Given the description of an element on the screen output the (x, y) to click on. 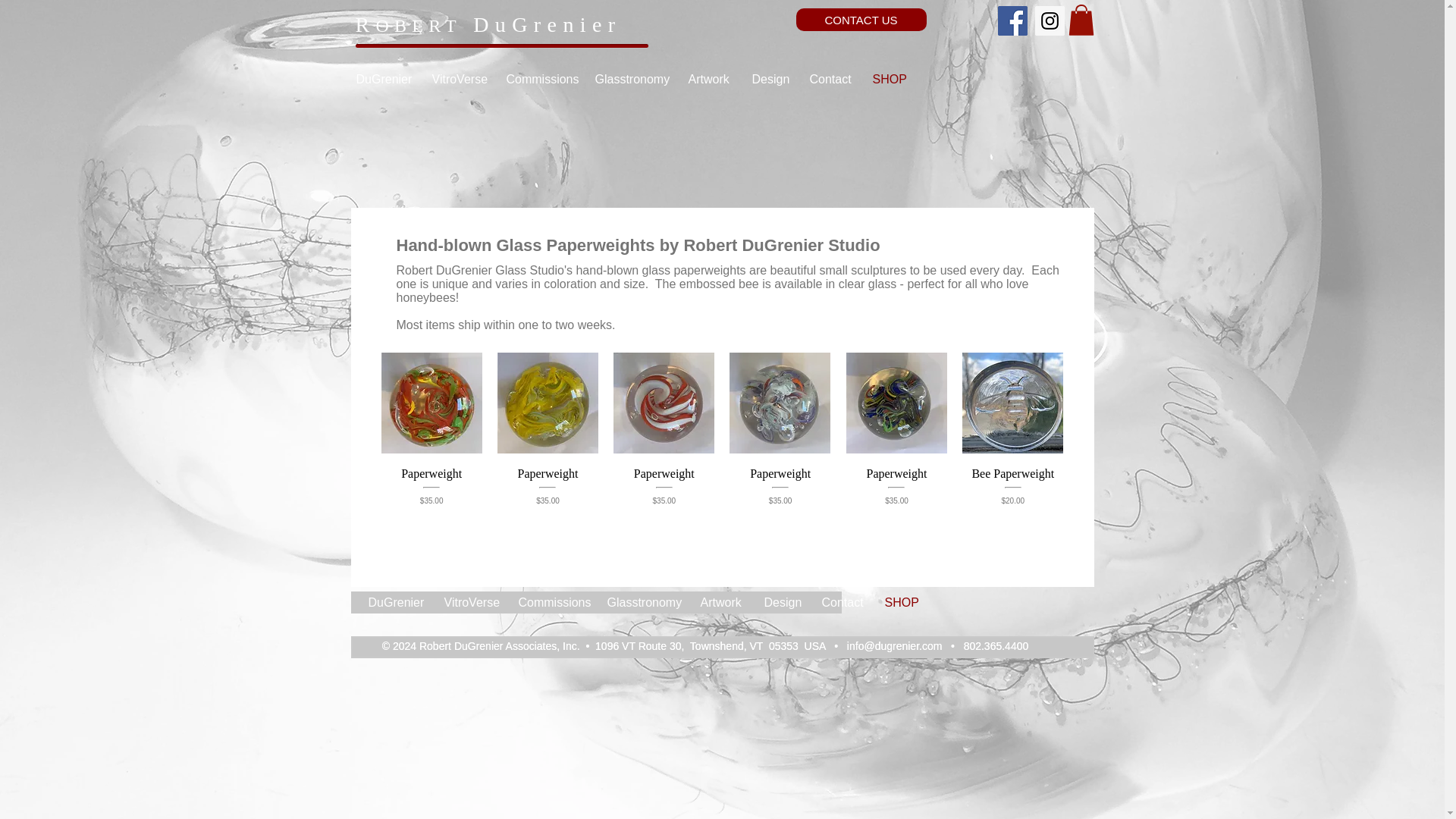
Design (768, 79)
CONTACT US (861, 19)
Contact (828, 79)
VitroVerse (457, 79)
Artwork (708, 79)
Twitter Follow (962, 20)
Commissions (539, 79)
DuGrenier (381, 79)
Glasstronomy (630, 79)
SHOP (888, 79)
